Given the description of an element on the screen output the (x, y) to click on. 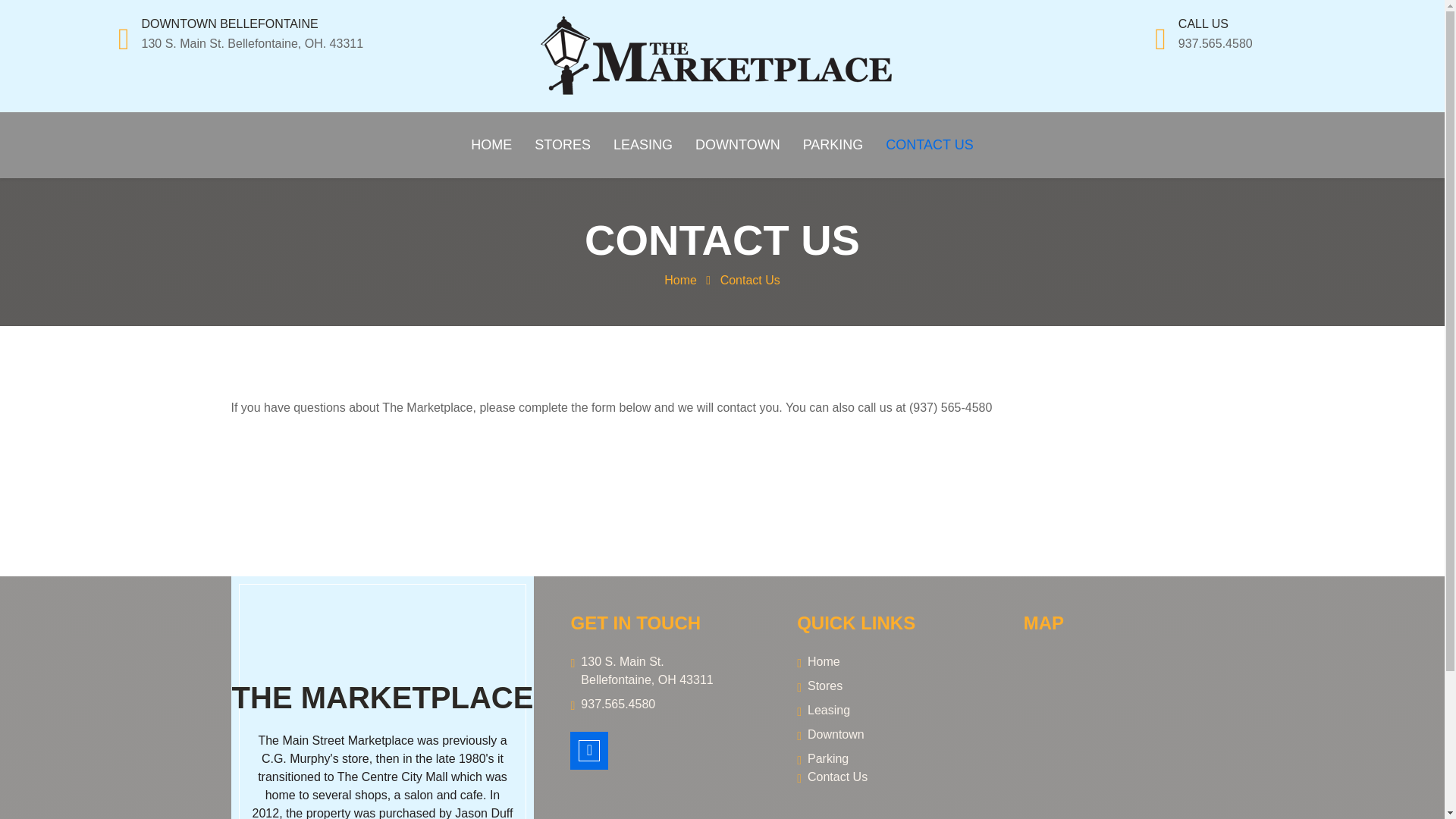
PARKING (833, 145)
Home (680, 279)
LEASING (643, 145)
Contact Us (750, 279)
Stores (891, 686)
Downtown (891, 734)
Contact Us (891, 777)
HOME (491, 145)
DOWNTOWN (738, 145)
STORES (562, 145)
